Given the description of an element on the screen output the (x, y) to click on. 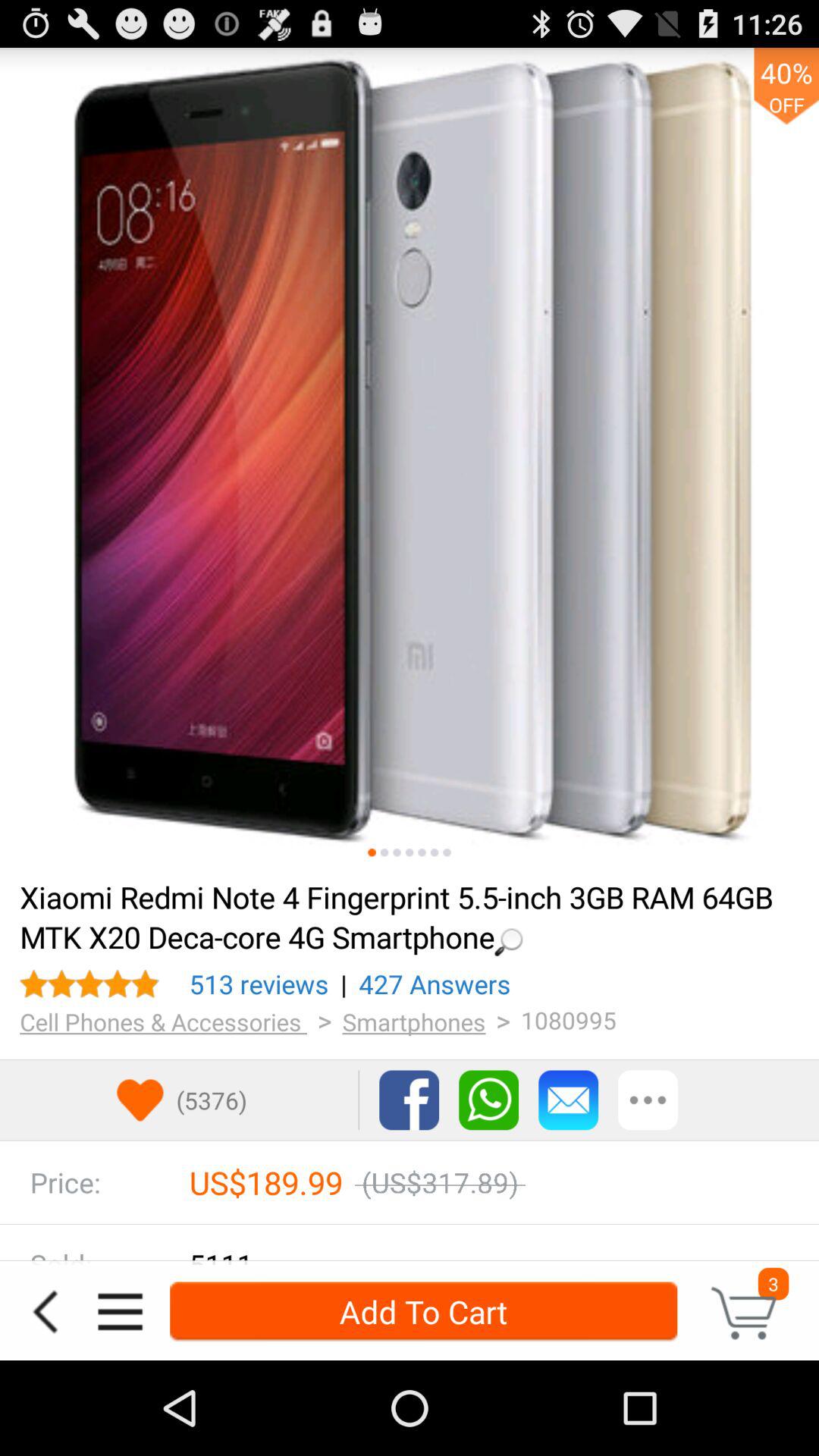
next page (409, 852)
